Given the description of an element on the screen output the (x, y) to click on. 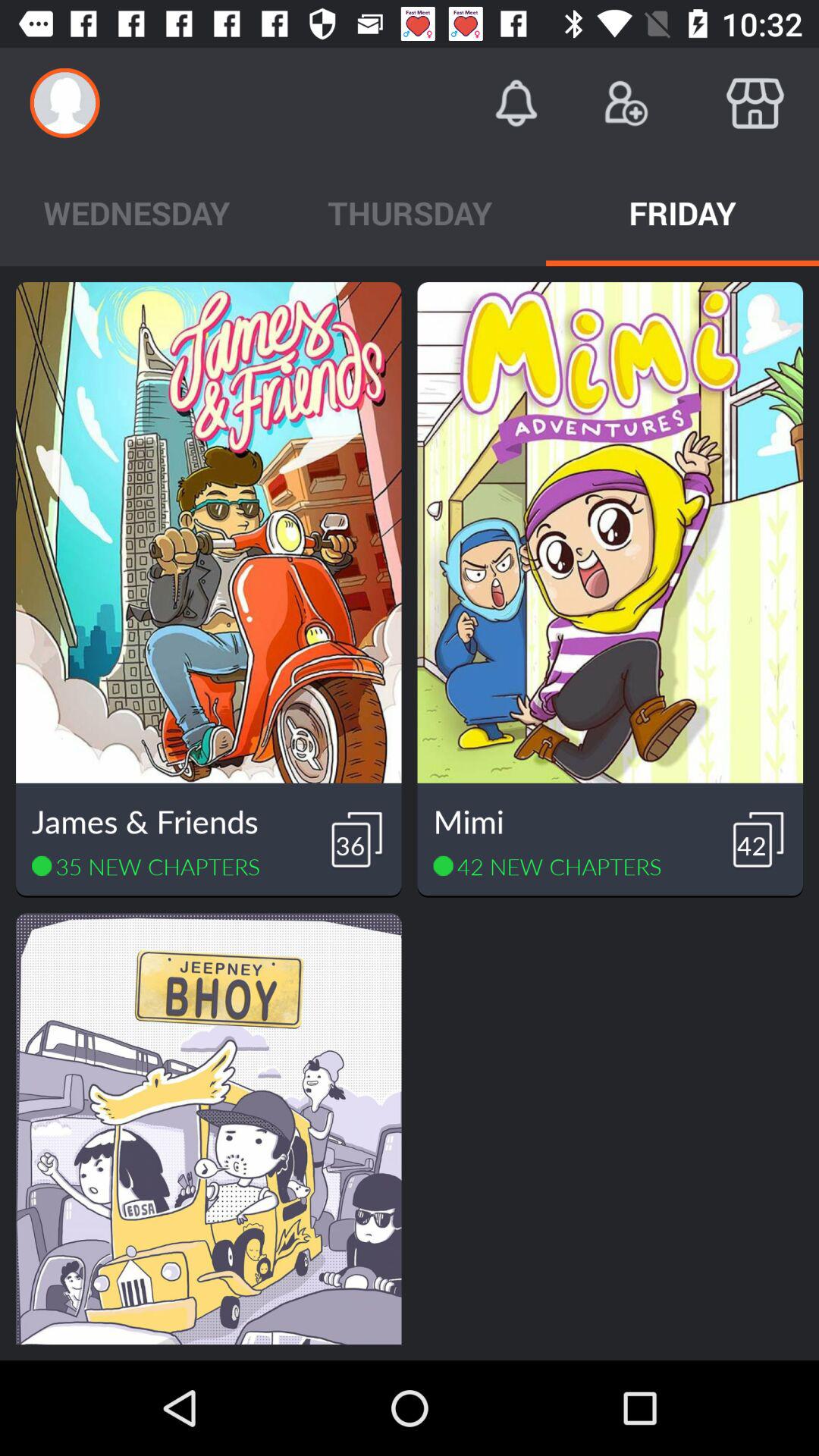
turn on the app to the right of the wednesday  app (409, 212)
